Given the description of an element on the screen output the (x, y) to click on. 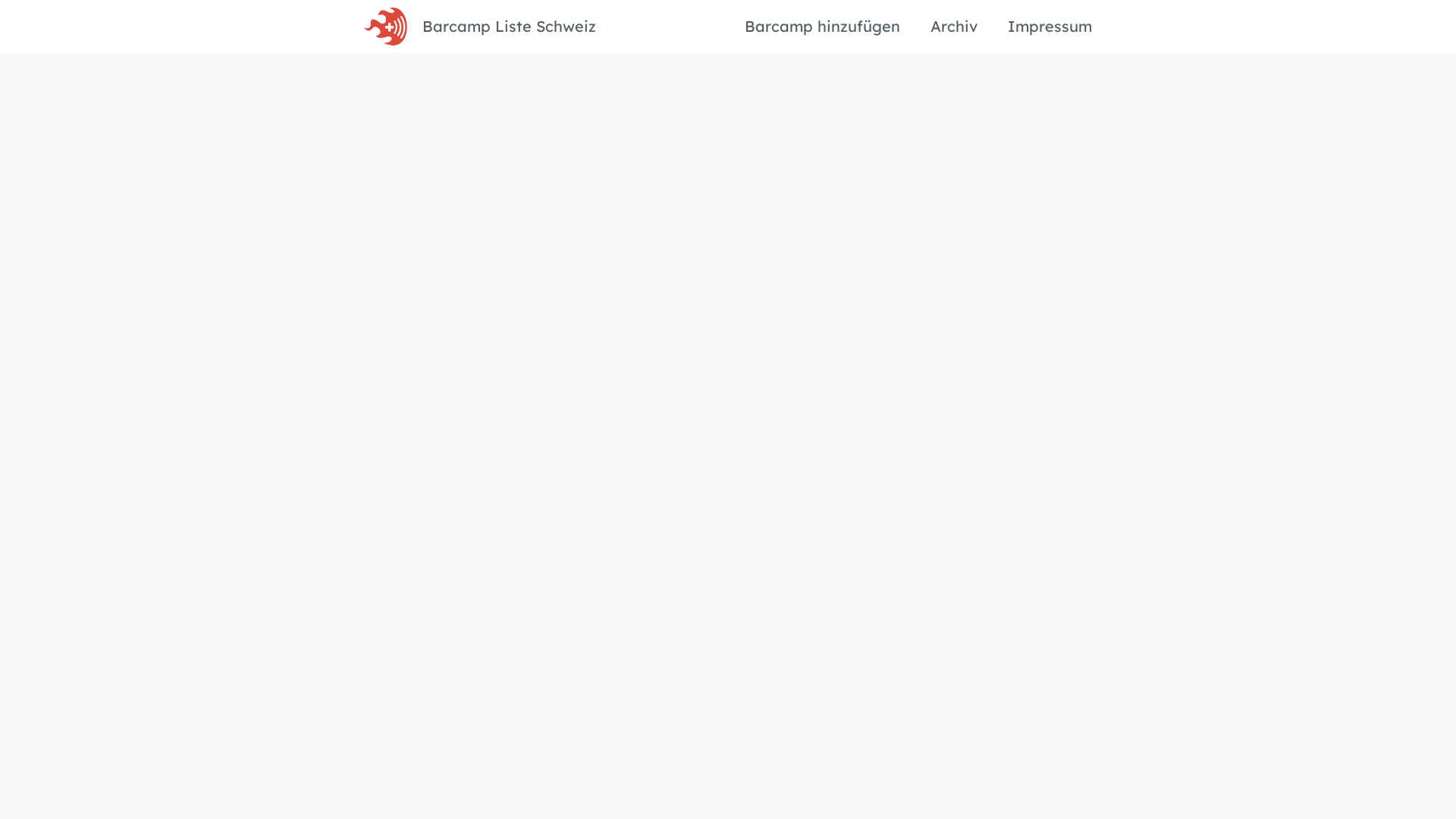
Barcamp Liste Schweiz Element type: text (509, 26)
Impressum Element type: text (1049, 26)
Archiv Element type: text (953, 26)
